Given the description of an element on the screen output the (x, y) to click on. 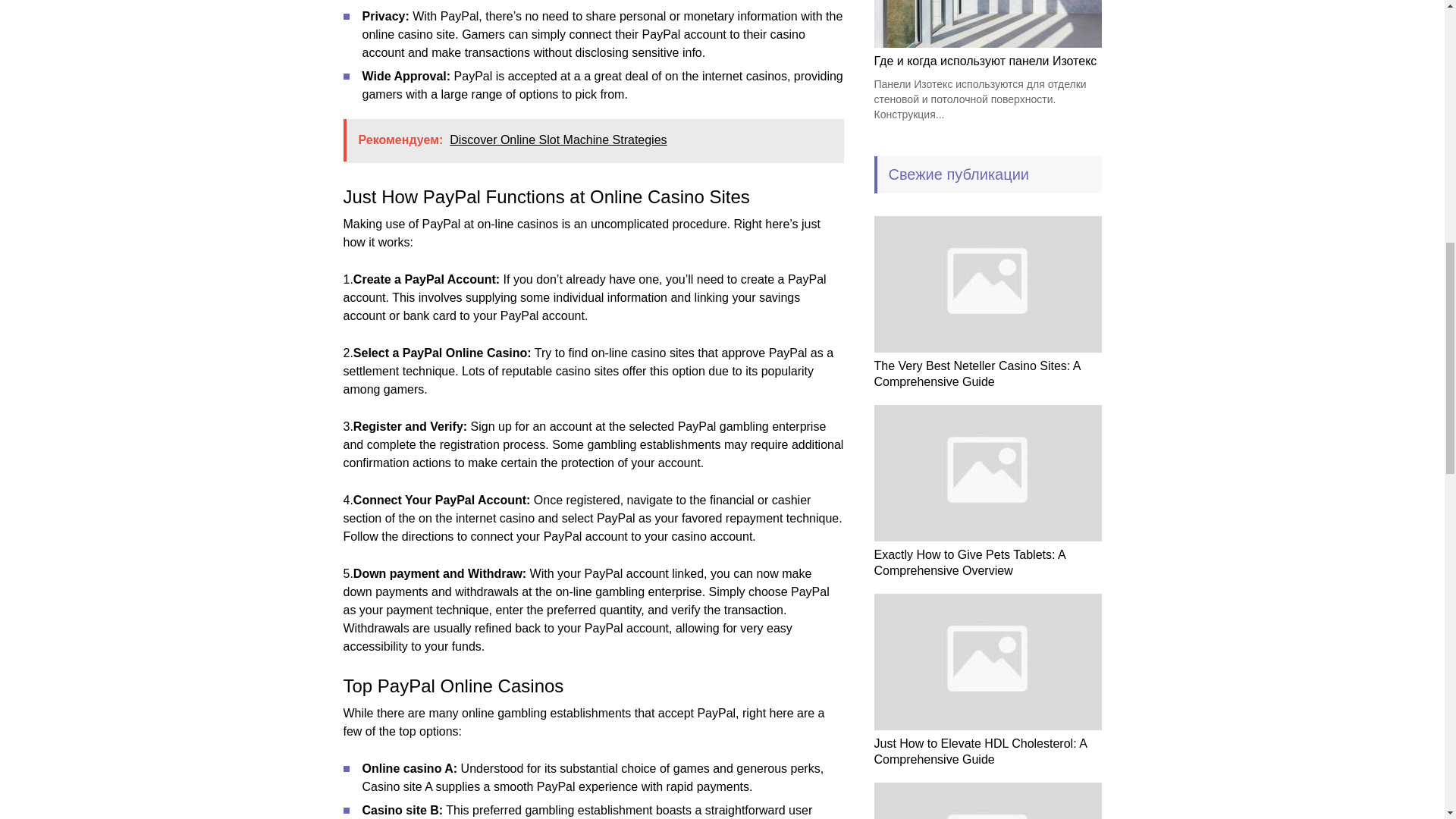
The Very Best Neteller Casino Sites: A Comprehensive Guide (976, 373)
Just How to Elevate HDL Cholesterol: A Comprehensive Guide (979, 751)
Exactly How to Give Pets Tablets: A Comprehensive Overview (968, 562)
